Given the description of an element on the screen output the (x, y) to click on. 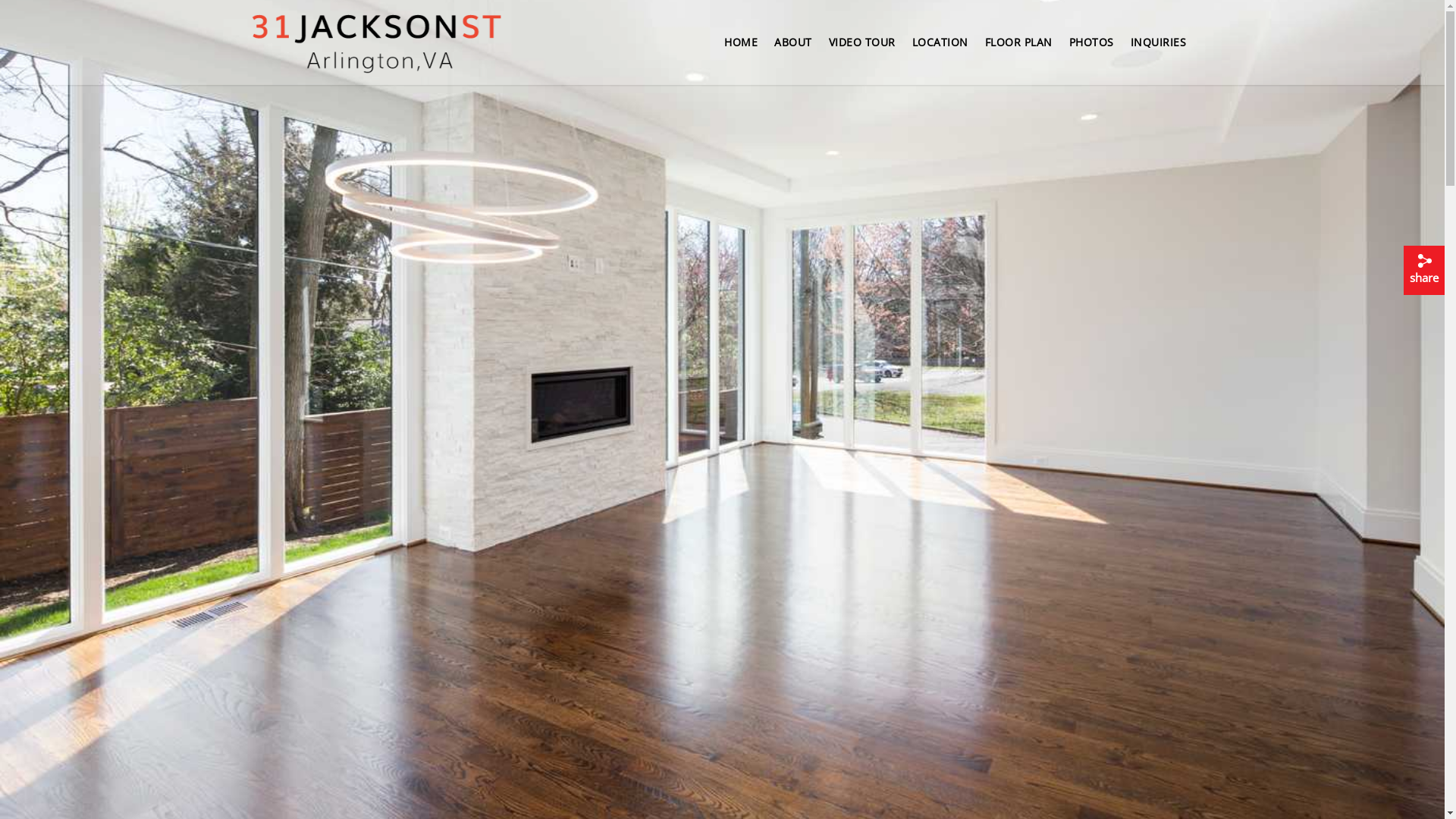
LOCATION Element type: text (939, 47)
FLOOR PLAN Element type: text (1017, 47)
INQUIRIES Element type: text (1157, 47)
share Element type: text (1423, 269)
VIDEO TOUR Element type: text (861, 47)
HOME Element type: text (740, 47)
ABOUT Element type: text (792, 47)
PHOTOS Element type: text (1091, 47)
